Given the description of an element on the screen output the (x, y) to click on. 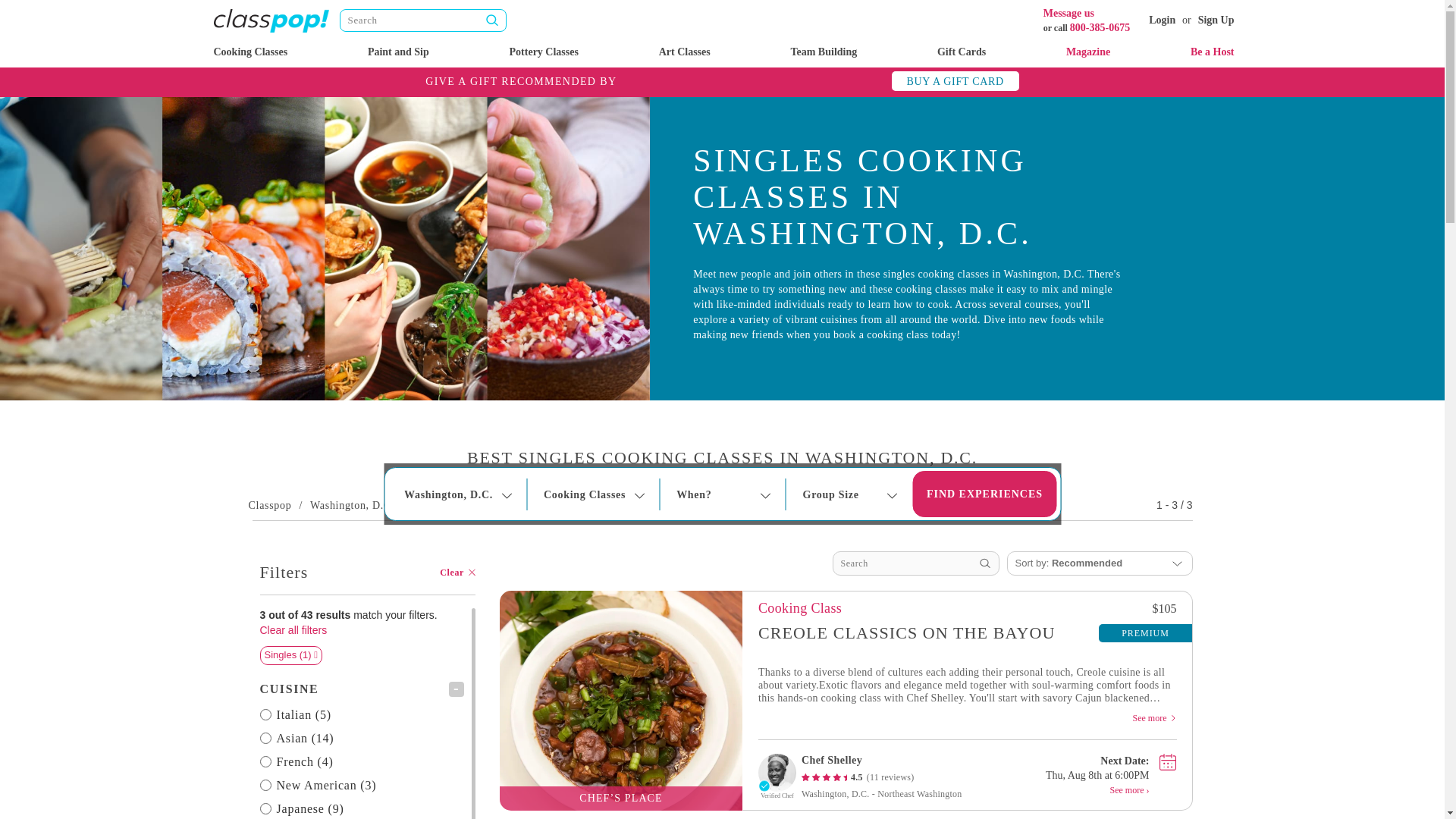
800-385-0675 (1099, 27)
Sign Up (1216, 19)
Login (1161, 19)
Cooking Classes (251, 51)
Cuisine (361, 688)
Message us (1068, 12)
